Given the description of an element on the screen output the (x, y) to click on. 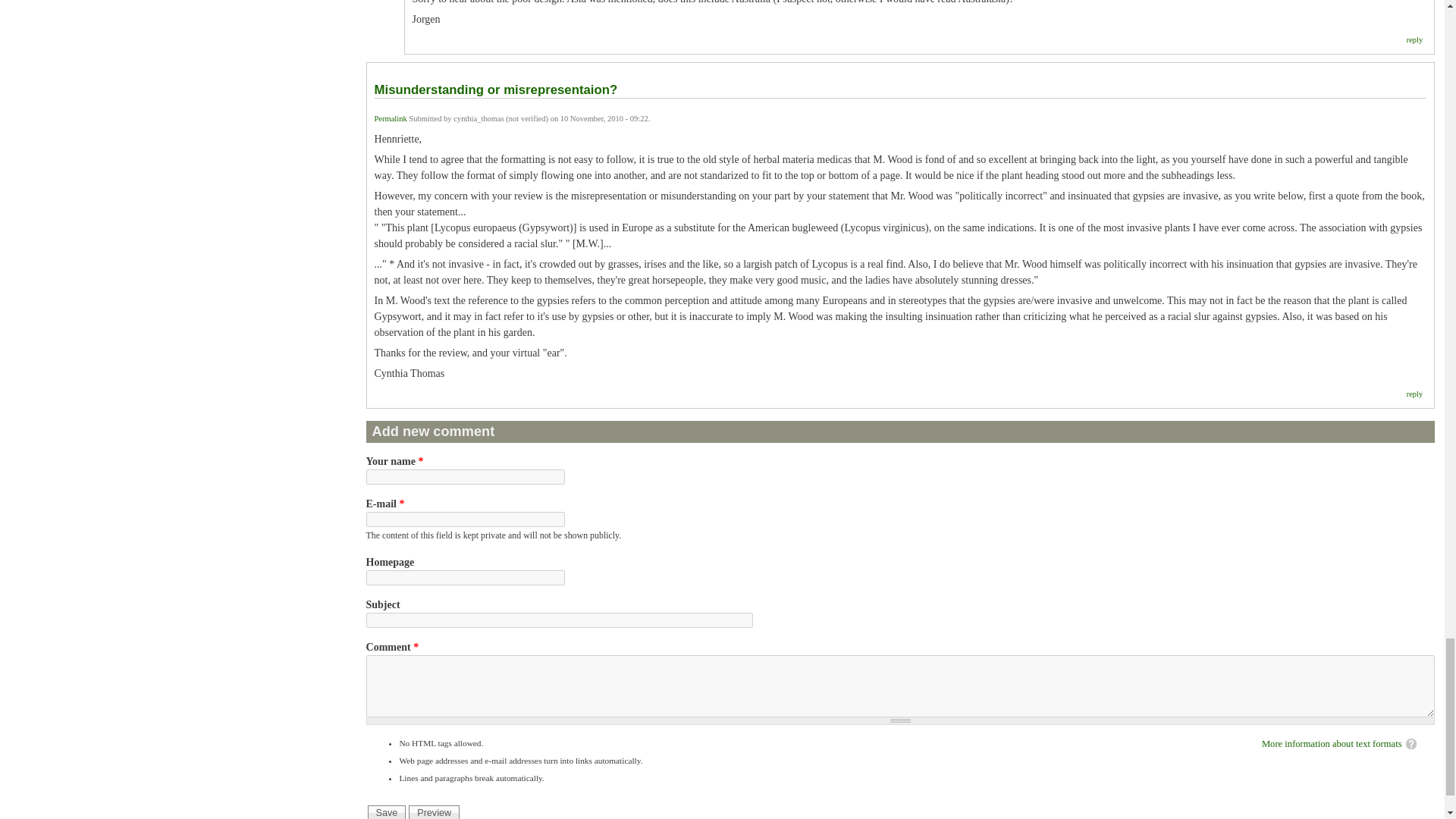
Save (387, 812)
Preview (434, 812)
